Given the description of an element on the screen output the (x, y) to click on. 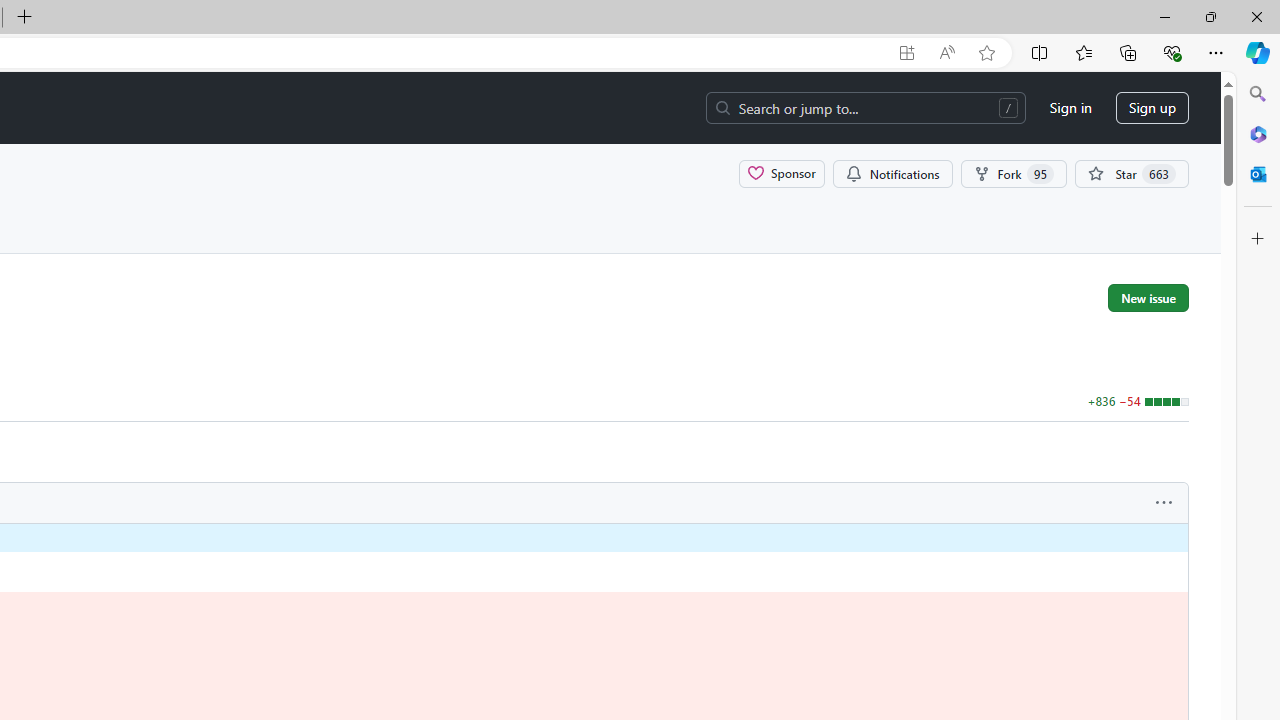
New issue (1148, 297)
Sign up (1152, 107)
App available. Install GitHub (906, 53)
Sponsor MajkiIT/polish-ads-filter (781, 173)
